Given the description of an element on the screen output the (x, y) to click on. 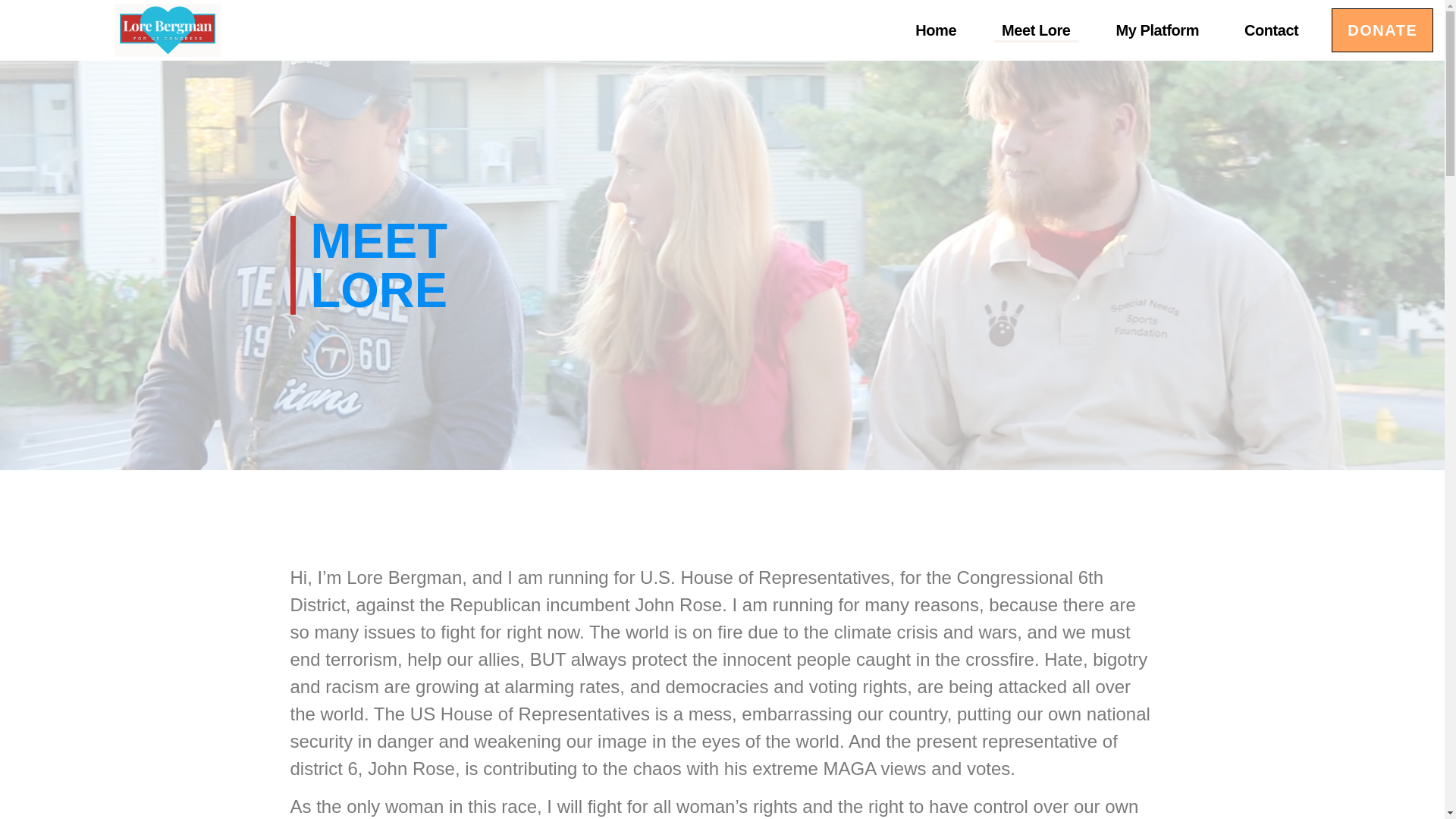
Contact (1271, 30)
Lore Bergman (168, 30)
DONATE (1382, 30)
Home (935, 30)
Meet Lore (1035, 30)
My Platform (1157, 30)
